Given the description of an element on the screen output the (x, y) to click on. 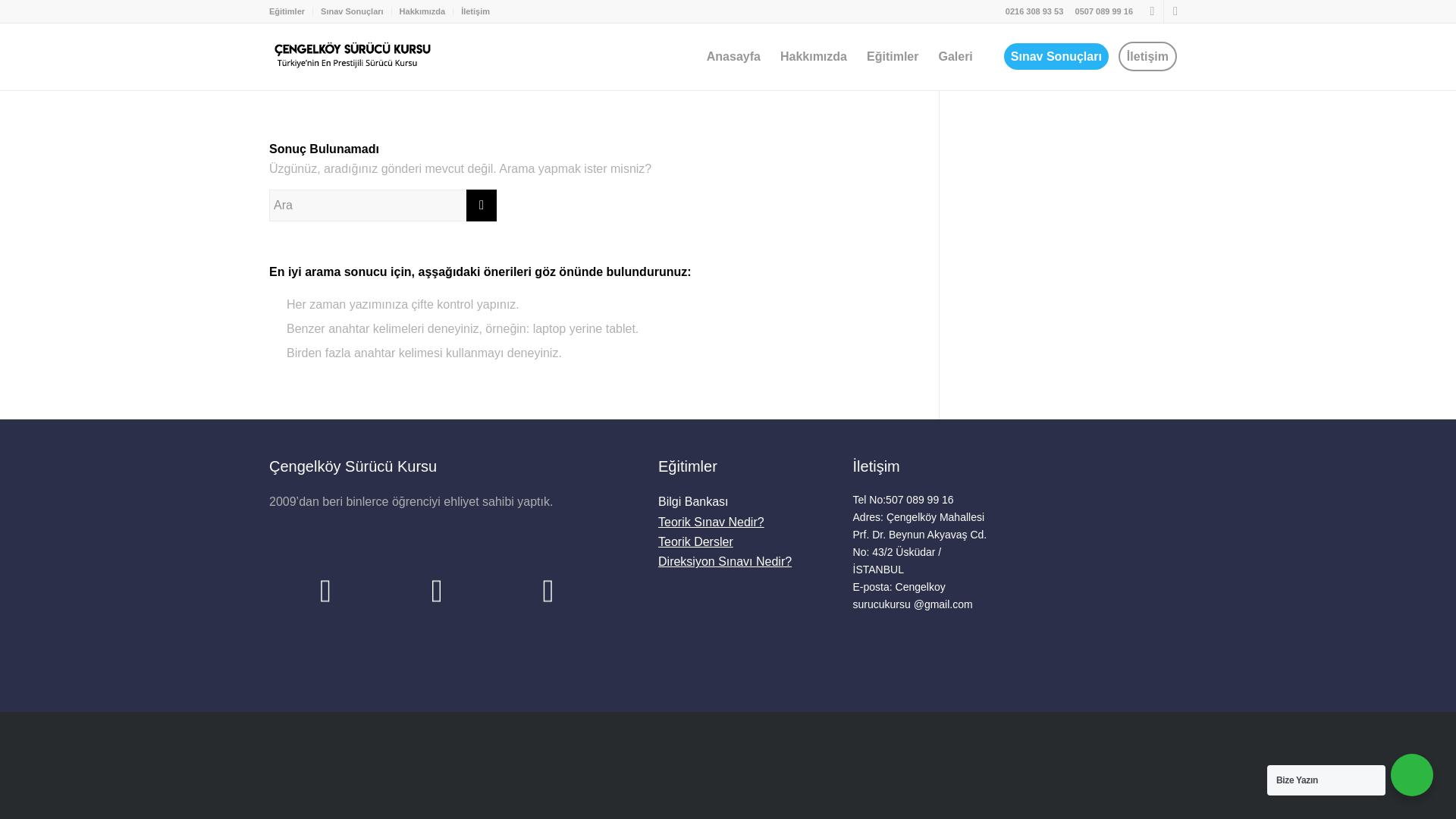
Instagram (1174, 11)
0507 089 99 16 (1103, 10)
0216 308 93 53 (1034, 10)
Anasayfa (733, 56)
Teorik Dersler (695, 541)
WhatsApp (1152, 11)
